Given the description of an element on the screen output the (x, y) to click on. 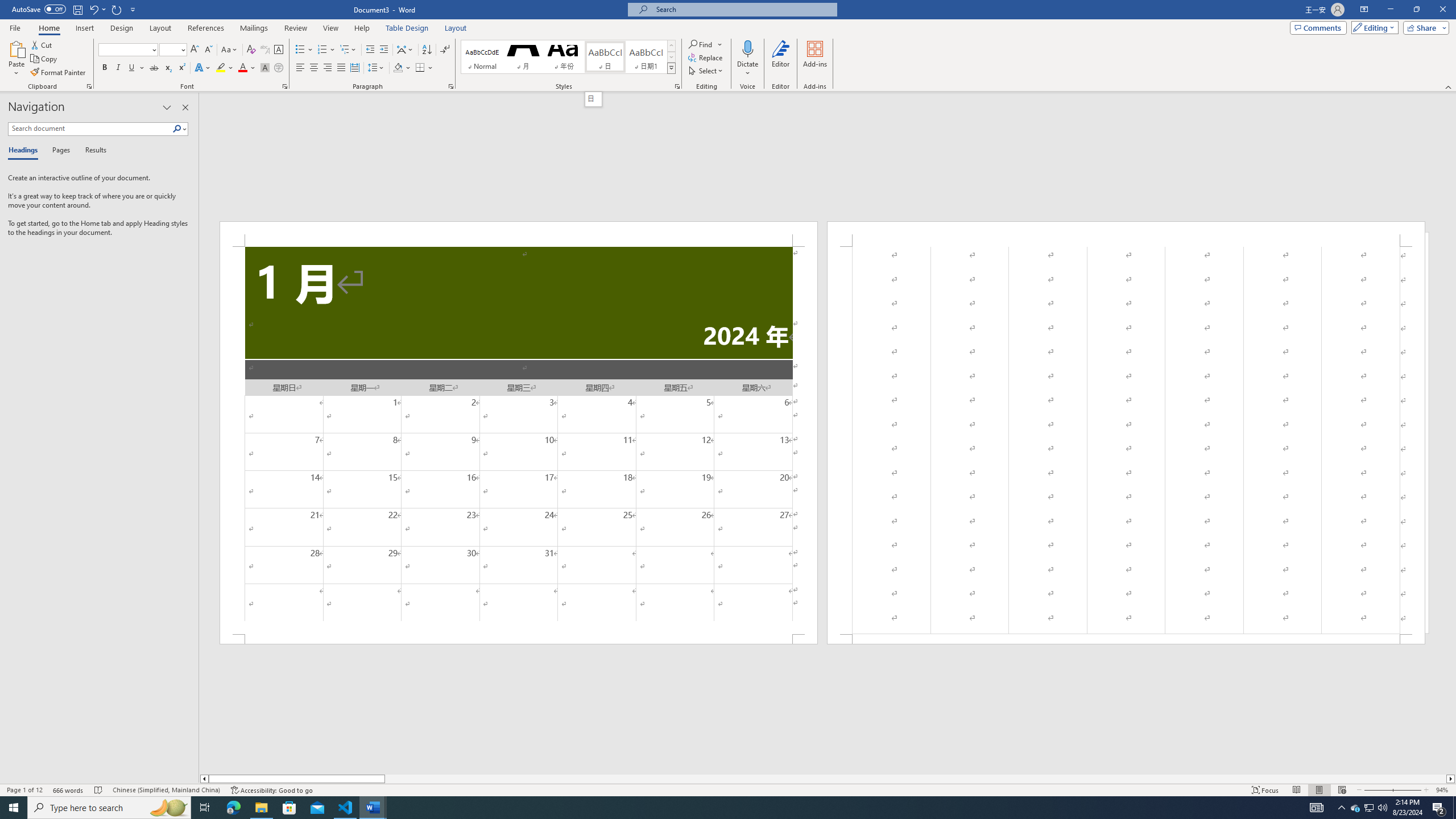
Zoom In (1407, 790)
Home (48, 28)
Editor (780, 58)
Class: NetUIImage (671, 68)
Borders (424, 67)
Row Down (670, 56)
Layout (455, 28)
Restore Down (1416, 9)
Page 1 content (518, 439)
Close (1442, 9)
Enclose Characters... (278, 67)
Class: NetUIScrollBar (827, 778)
